Given the description of an element on the screen output the (x, y) to click on. 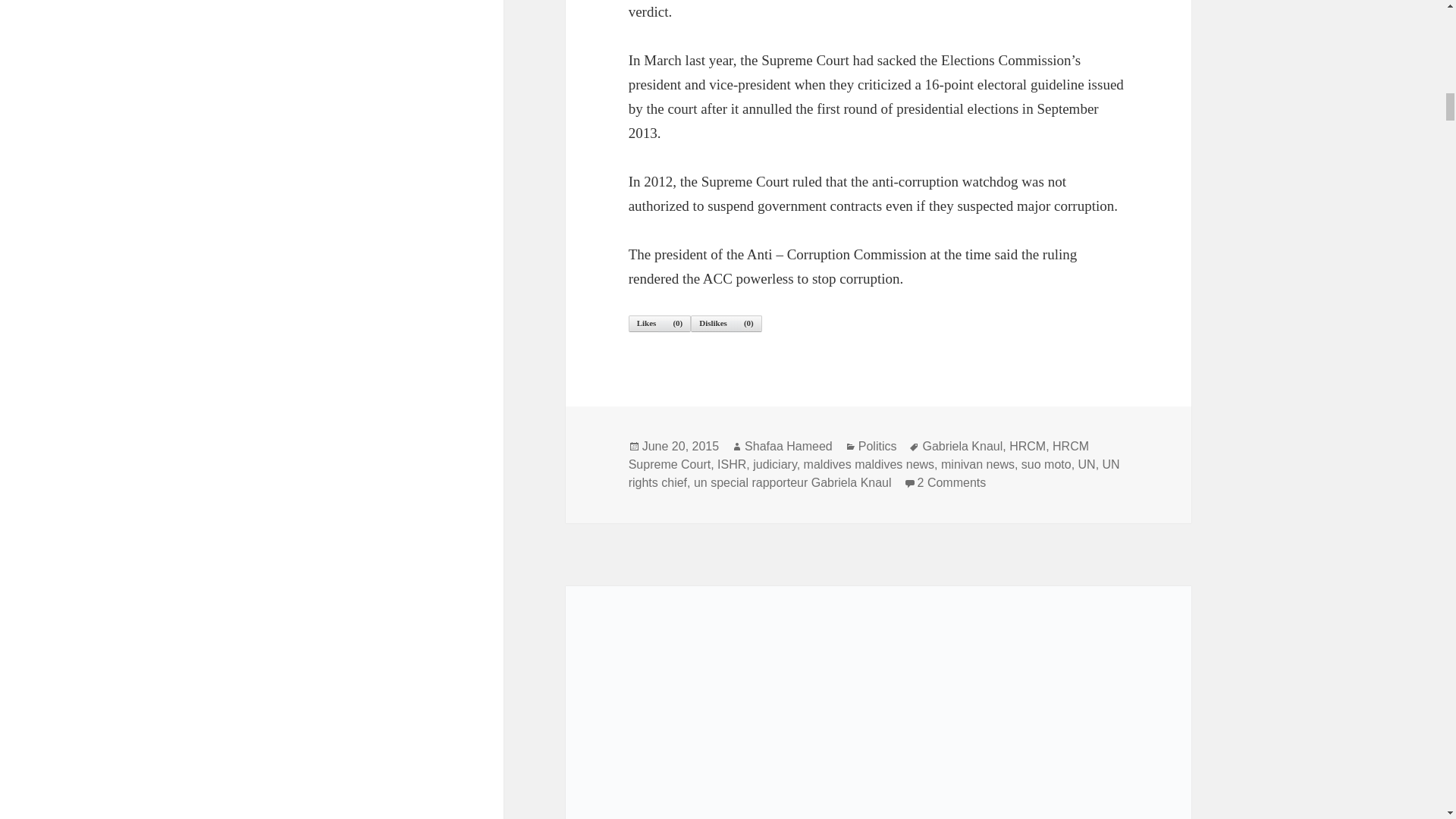
un special rapporteur Gabriela Knaul (792, 482)
HRCM (1027, 446)
Politics (877, 446)
UN (952, 482)
HRCM Supreme Court (1087, 464)
UN rights chief (858, 455)
ISHR (873, 473)
suo moto (731, 464)
minivan news (1046, 464)
Gabriela Knaul (977, 464)
judiciary (962, 446)
maldives maldives news (774, 464)
Shafaa Hameed (868, 464)
June 20, 2015 (788, 446)
